Given the description of an element on the screen output the (x, y) to click on. 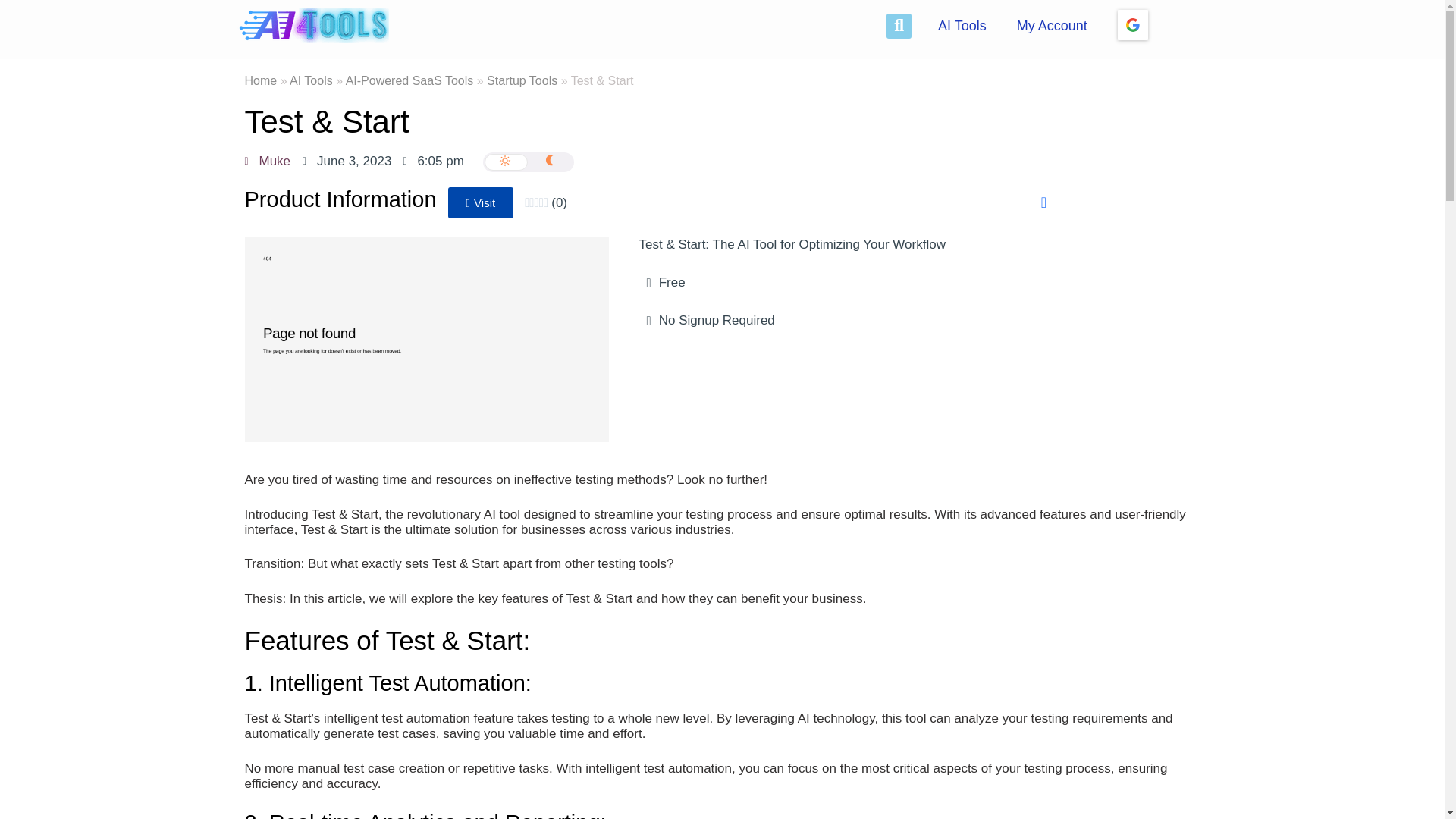
Muke (266, 160)
AI Tools (311, 80)
AI-Powered SaaS Tools (410, 80)
My Account (1051, 25)
Startup Tools (521, 80)
Visit (480, 202)
AI Tools (962, 25)
Home (260, 80)
